Given the description of an element on the screen output the (x, y) to click on. 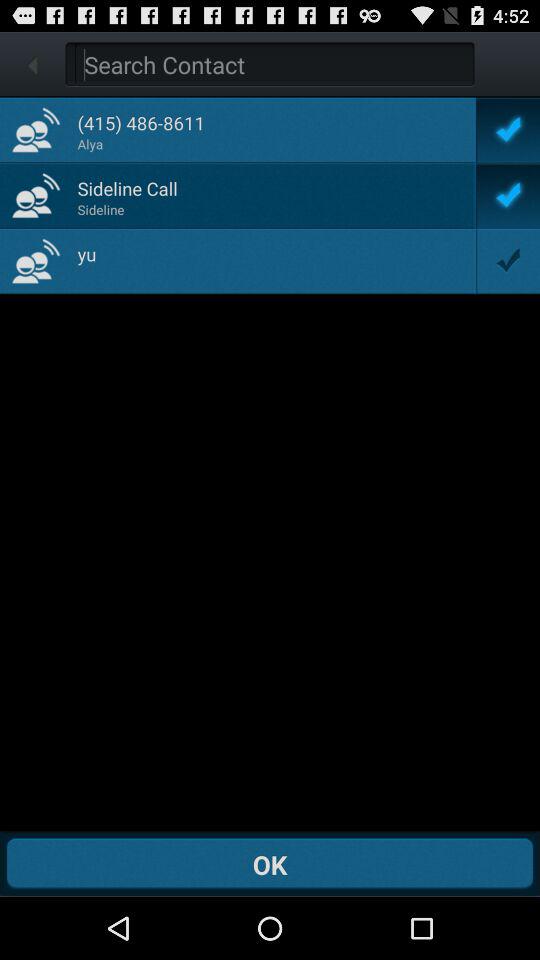
select the icon on the right next to the text yu on the web page (507, 260)
